Given the description of an element on the screen output the (x, y) to click on. 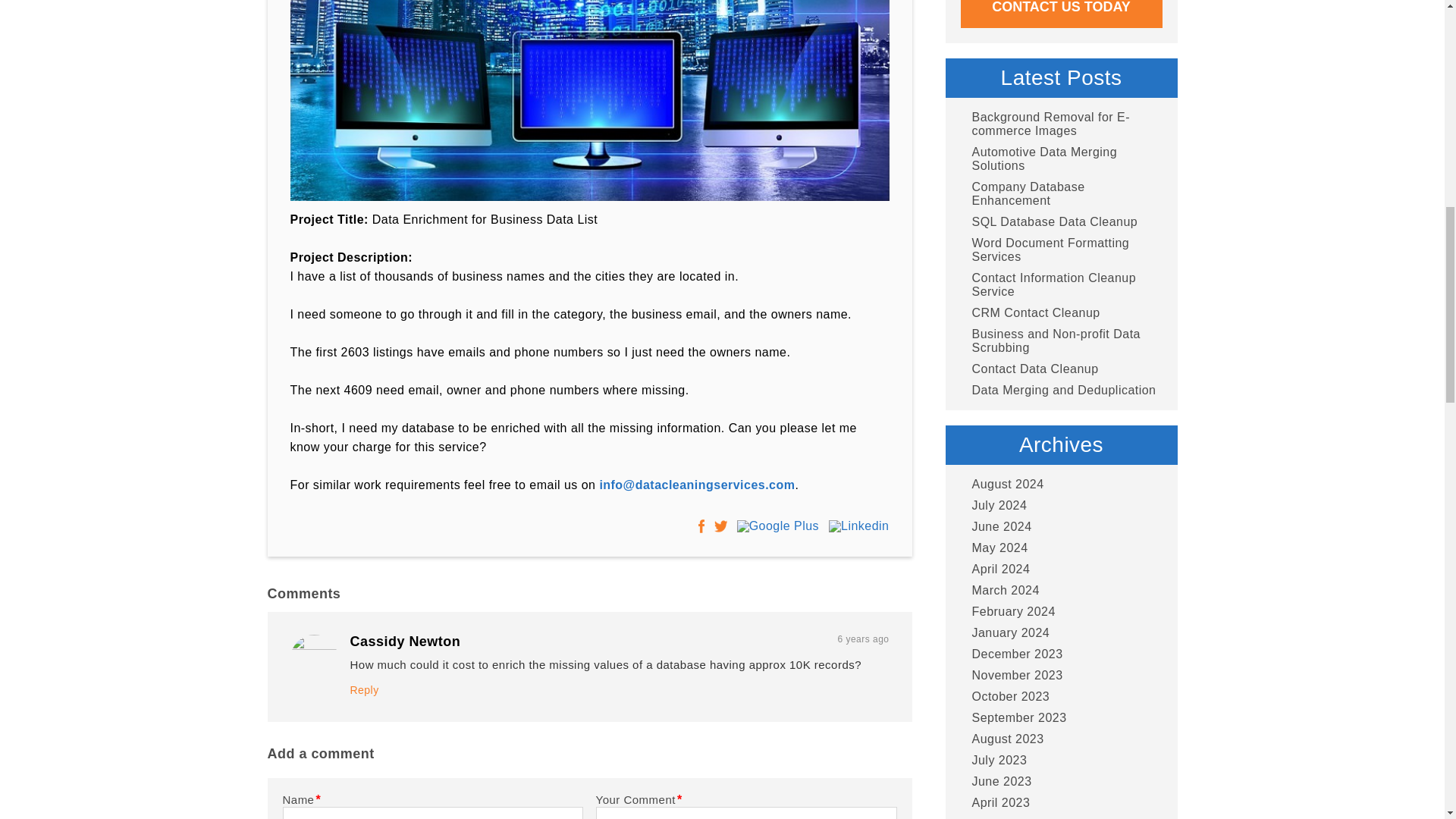
Google Plus (777, 526)
Background Removal for E-commerce Images (1060, 124)
Automotive Data Merging Solutions (1060, 158)
Linkedin (858, 526)
Contact us today (1060, 13)
SQL Database Data Cleanup (1048, 222)
Contact us today (1060, 13)
Word Document Formatting Services (1060, 249)
Reply (364, 689)
Company Database Enhancement (1060, 194)
